Given the description of an element on the screen output the (x, y) to click on. 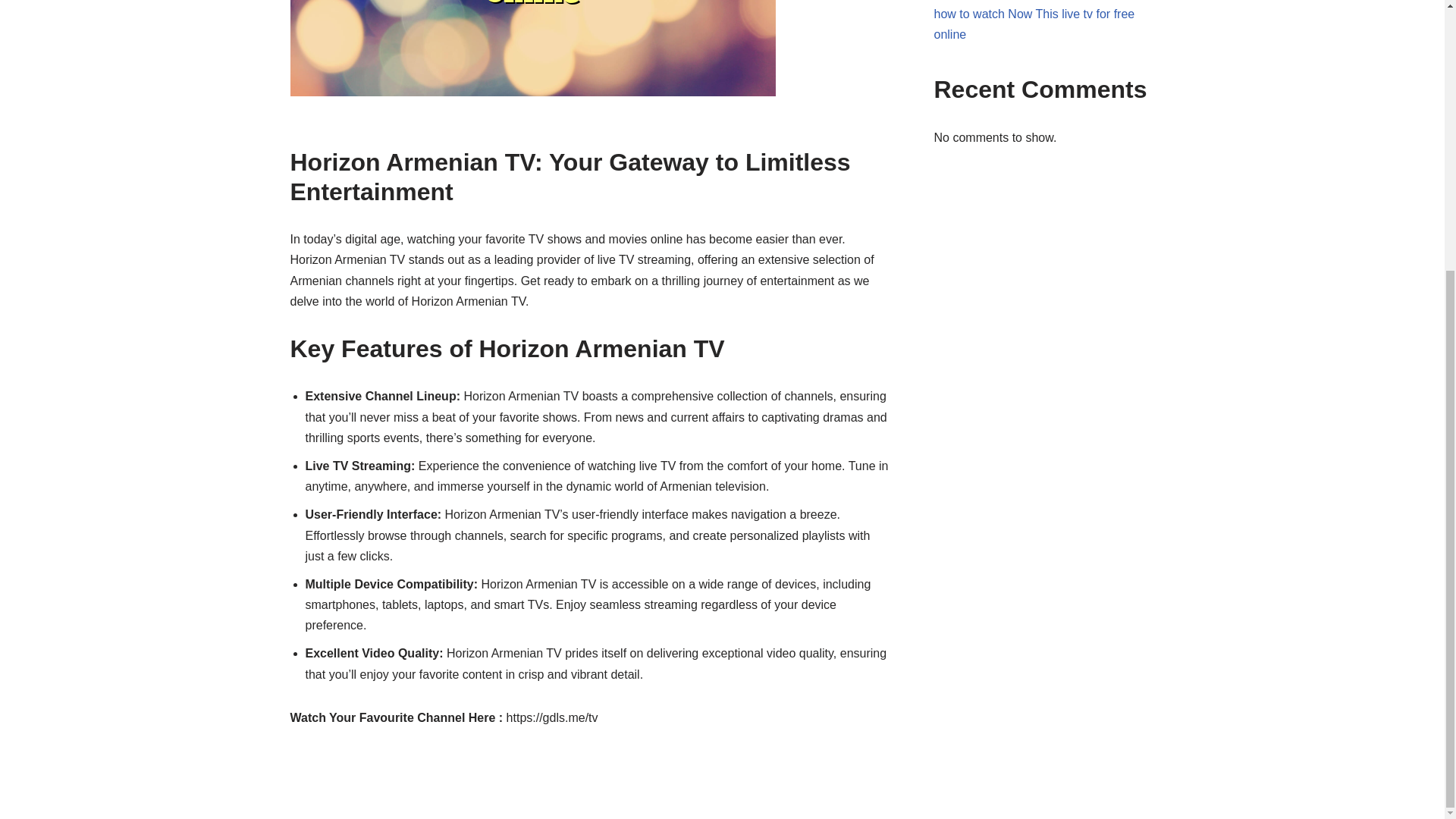
how to watch Now This live tv for free online (1034, 23)
